Given the description of an element on the screen output the (x, y) to click on. 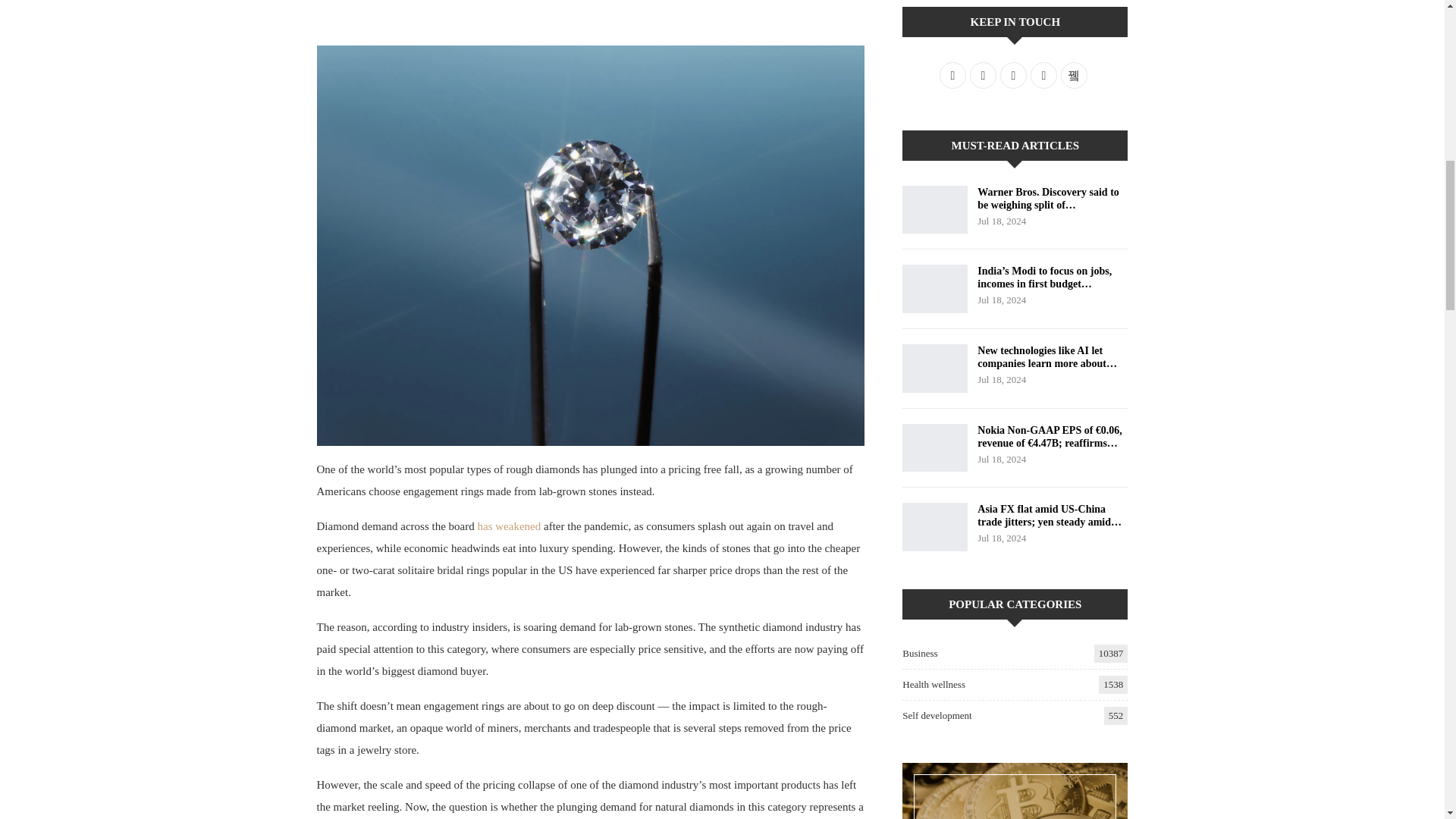
has weakened (509, 526)
